Given the description of an element on the screen output the (x, y) to click on. 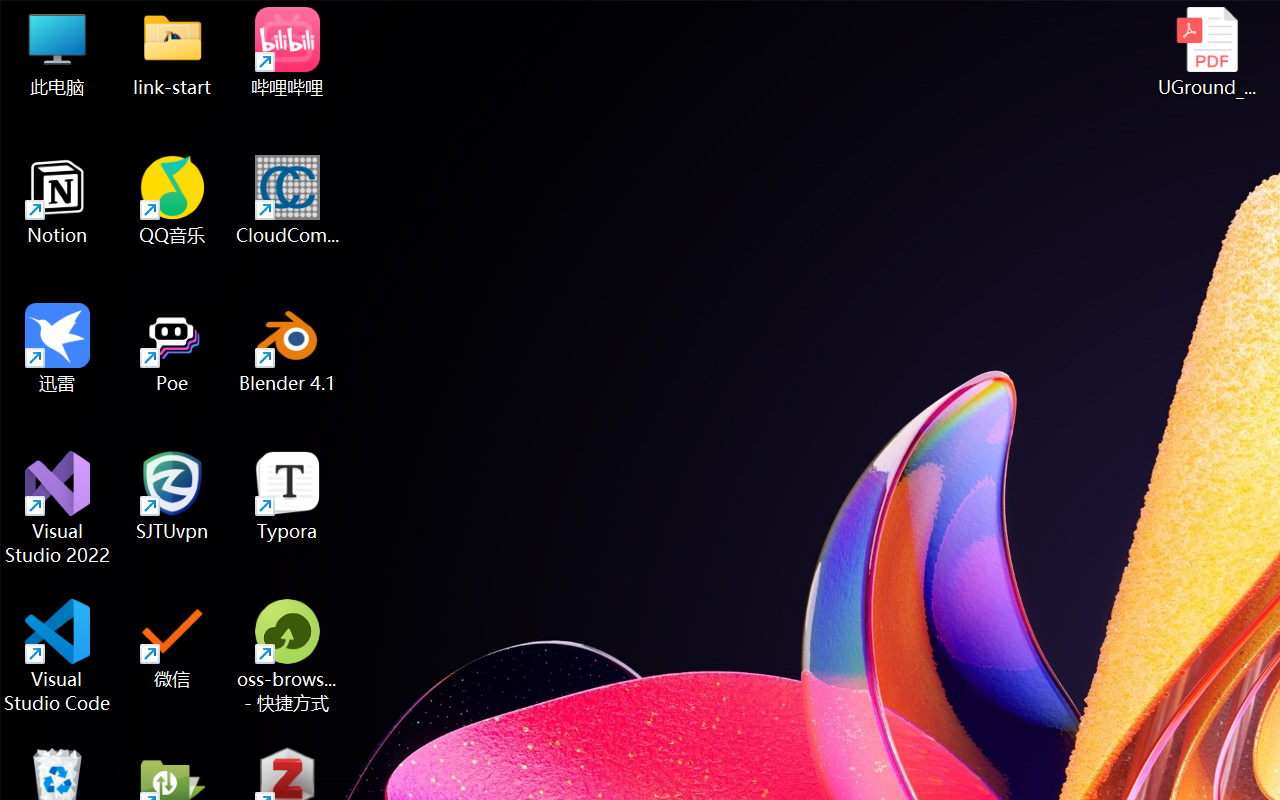
Visual Studio Code (57, 656)
UGround_paper.pdf (1206, 52)
CloudCompare (287, 200)
SJTUvpn (172, 496)
Blender 4.1 (287, 348)
Visual Studio 2022 (57, 508)
Typora (287, 496)
